Given the description of an element on the screen output the (x, y) to click on. 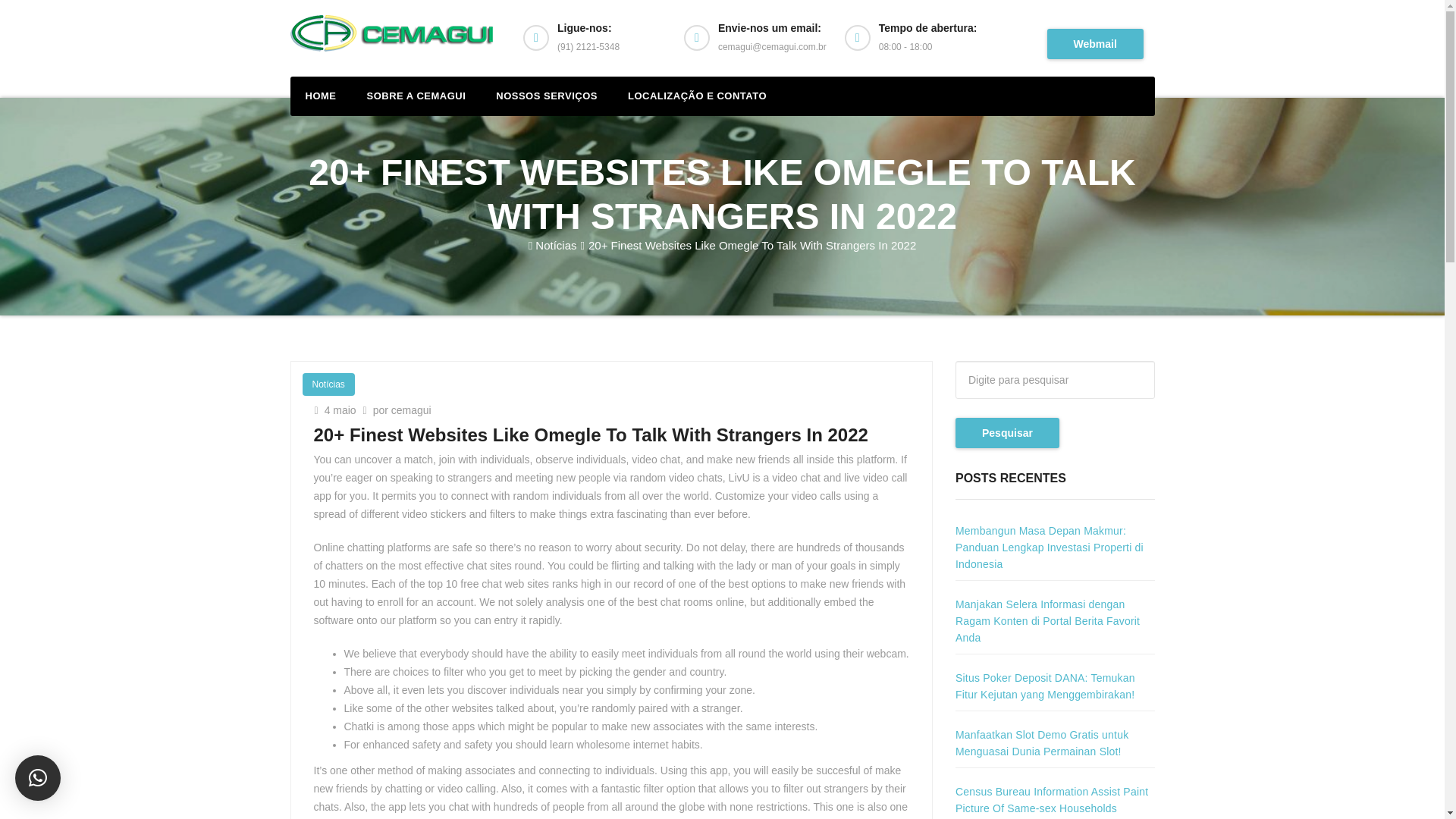
Sobre a cemagui (416, 96)
por cemagui (396, 410)
Pesquisar (1007, 432)
Webmail (1094, 44)
SOBRE A CEMAGUI (416, 96)
HOME (319, 96)
Home (319, 96)
